Given the description of an element on the screen output the (x, y) to click on. 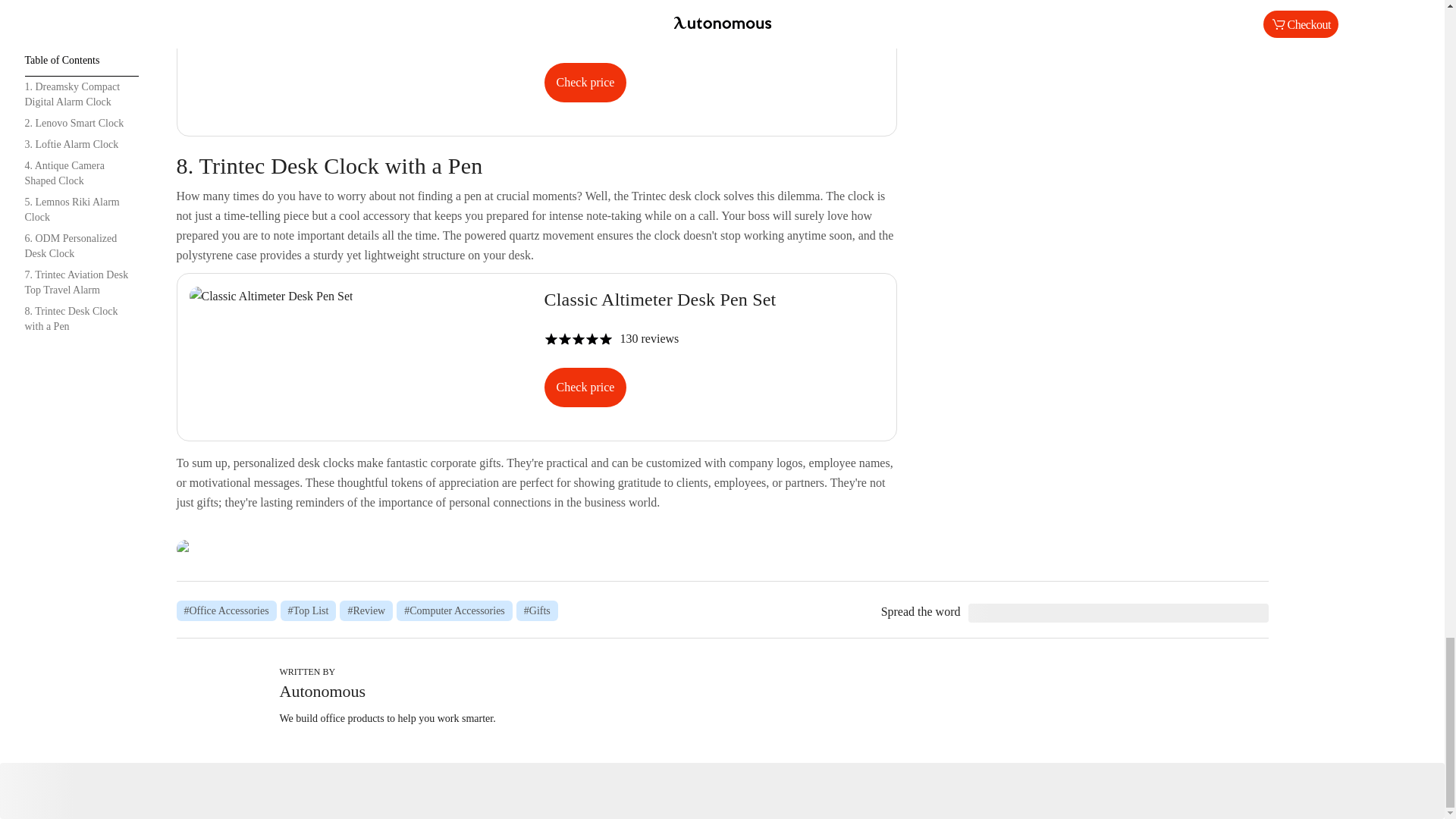
Classic Altimeter Desk Pen Set (536, 355)
Labor Day Sale 2024 (536, 355)
Classic Altimeter Desk Model Alarm Clock (536, 547)
Check price (536, 59)
Check price (585, 82)
